Given the description of an element on the screen output the (x, y) to click on. 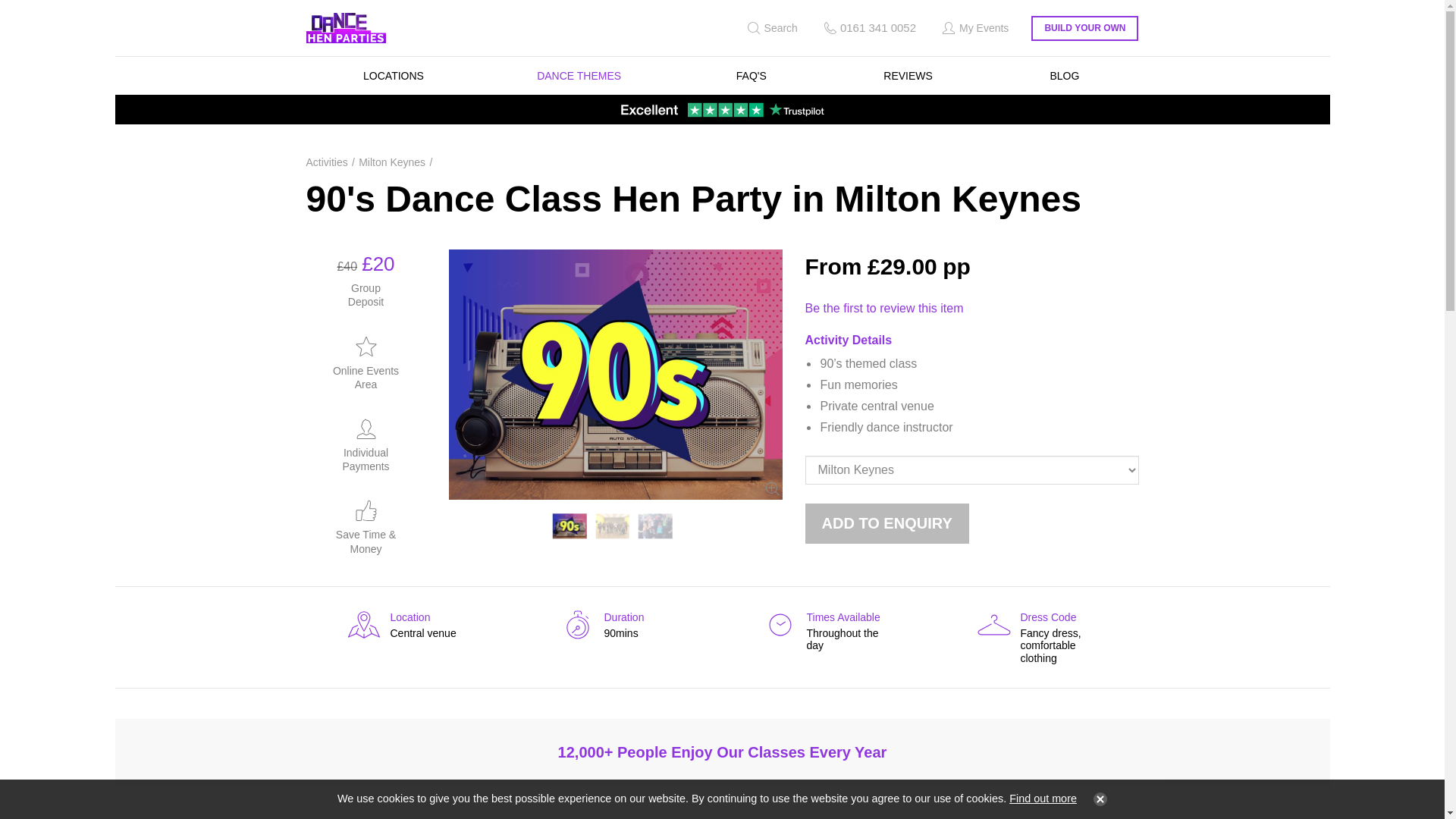
REVIEWS (908, 75)
My Events (974, 28)
0161 341 0052 (868, 28)
90's Dance Experience (655, 525)
Milton Keynes (395, 162)
90's Dance Activity (612, 525)
Add to enquiry (887, 523)
90's Dance Hen Parties (569, 525)
Add to enquiry (887, 523)
LOCATIONS (393, 75)
